Given the description of an element on the screen output the (x, y) to click on. 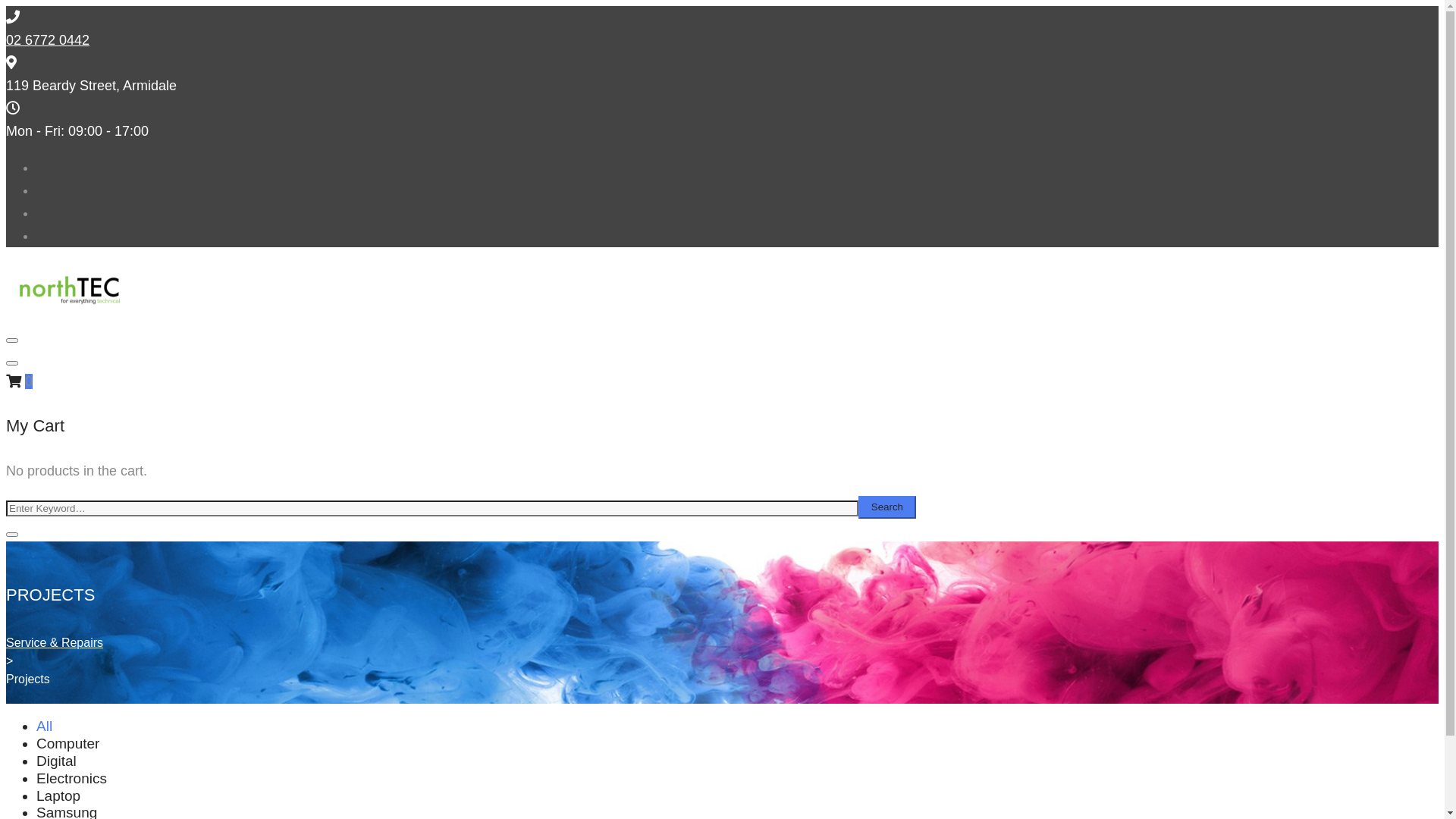
Search Element type: text (887, 506)
Service & Repairs Element type: text (54, 642)
02 6772 0442 Element type: text (47, 39)
